Given the description of an element on the screen output the (x, y) to click on. 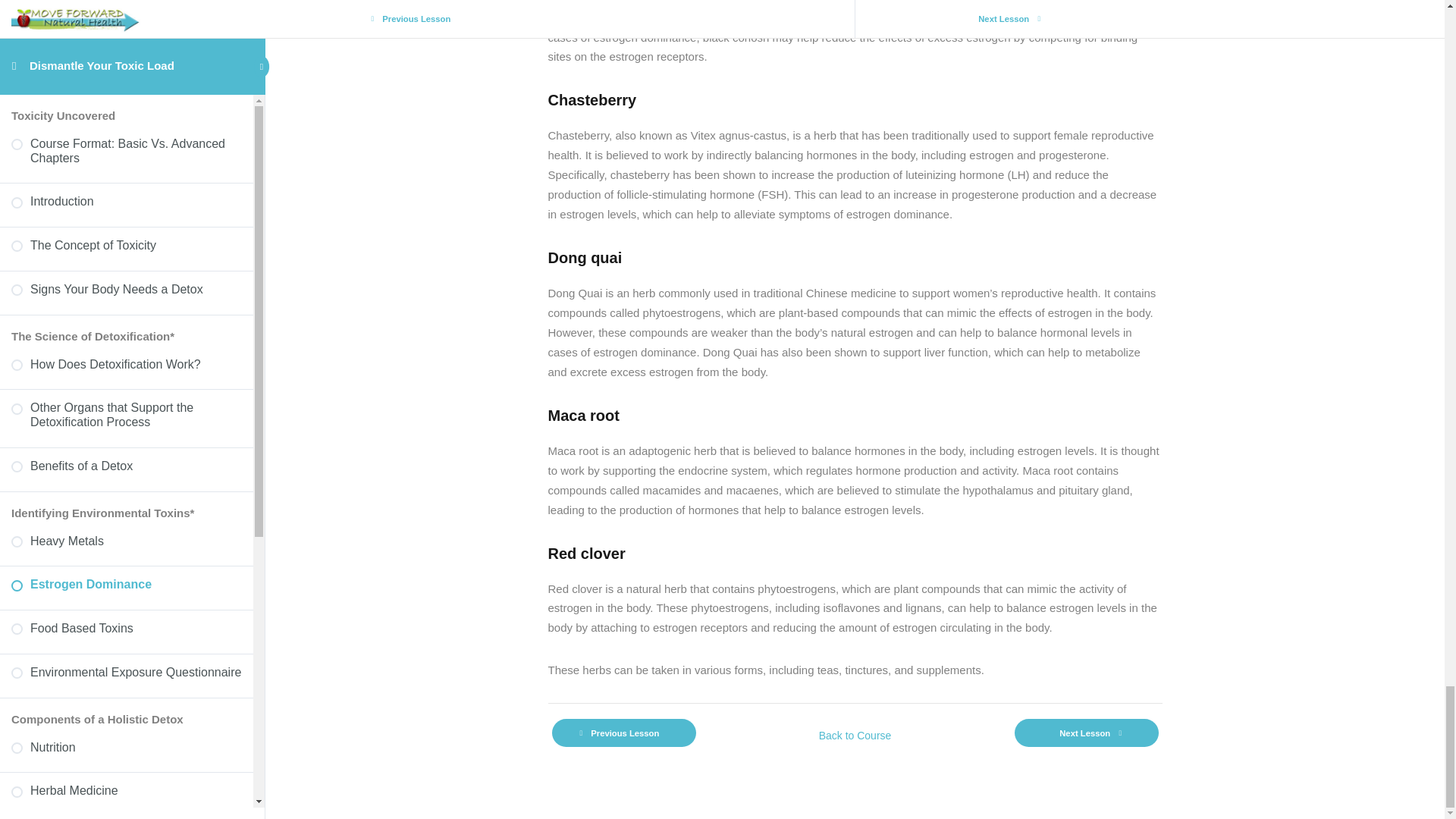
Back to Course (854, 735)
Previous Lesson (623, 732)
Next Lesson (1086, 732)
